Given the description of an element on the screen output the (x, y) to click on. 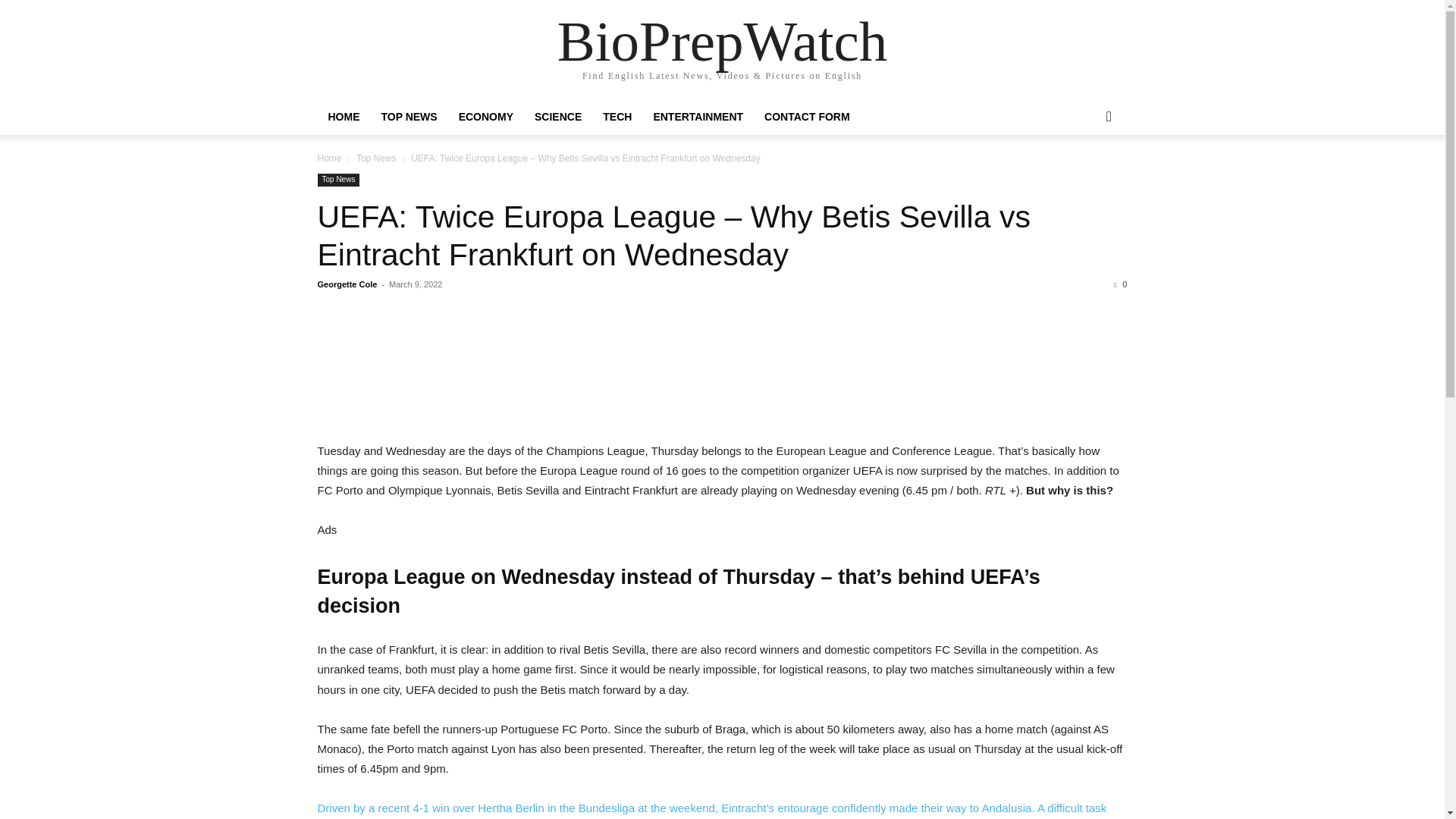
Home (328, 158)
HOME (343, 116)
CONTACT FORM (807, 116)
Georgette Cole (347, 284)
ENTERTAINMENT (698, 116)
Top News (338, 179)
TOP NEWS (407, 116)
View all posts in Top News (376, 158)
SCIENCE (558, 116)
TECH (617, 116)
Search (1085, 177)
BioPrepWatch (722, 41)
Top News (376, 158)
ECONOMY (486, 116)
0 (1119, 284)
